Given the description of an element on the screen output the (x, y) to click on. 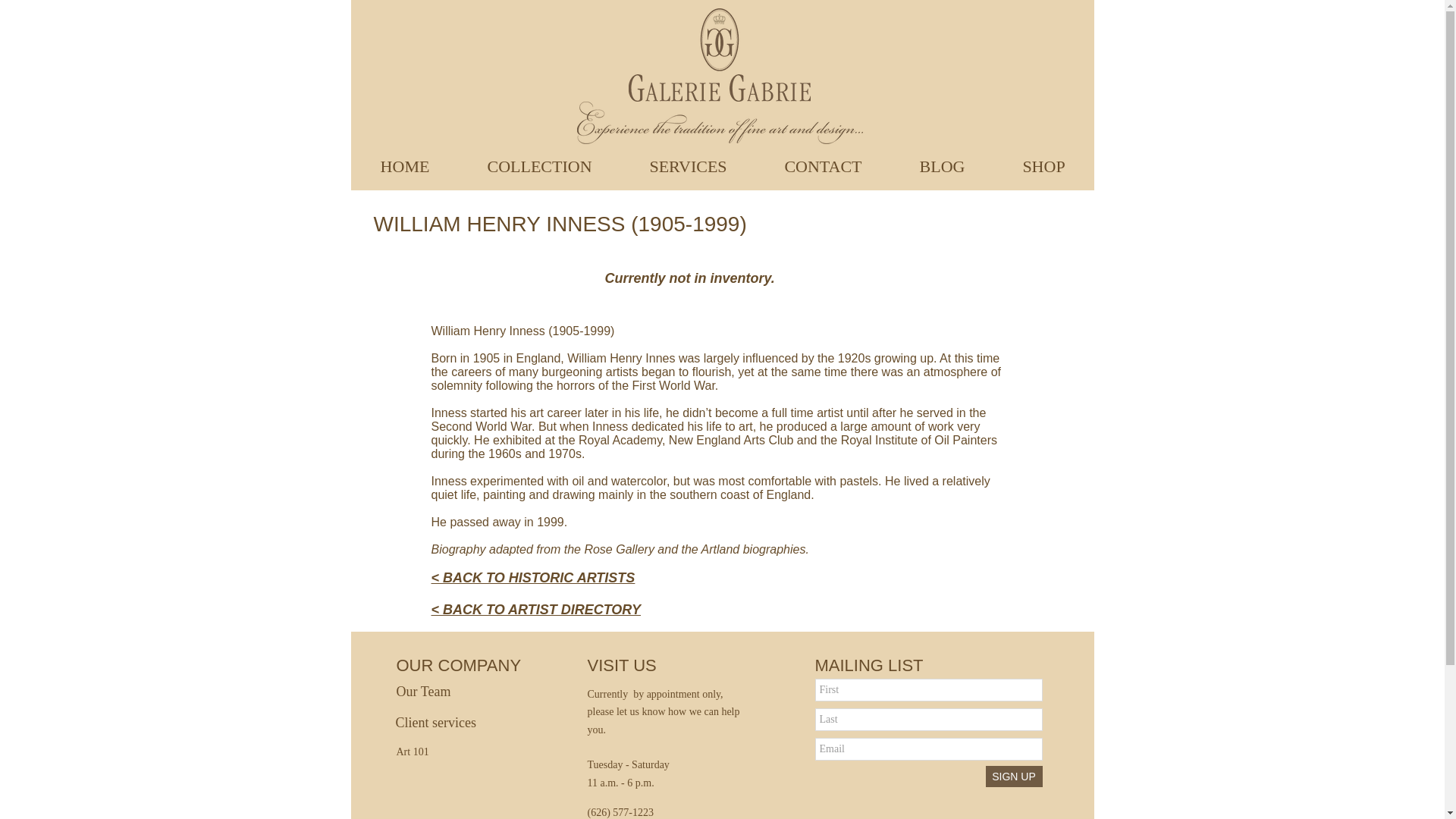
CONTACT (822, 165)
SERVICES (687, 165)
SIGN UP (1013, 776)
HOME (405, 165)
BLOG (940, 165)
Art 101 (421, 752)
SHOP (1042, 165)
Our Team (445, 692)
COLLECTION (539, 165)
